Given the description of an element on the screen output the (x, y) to click on. 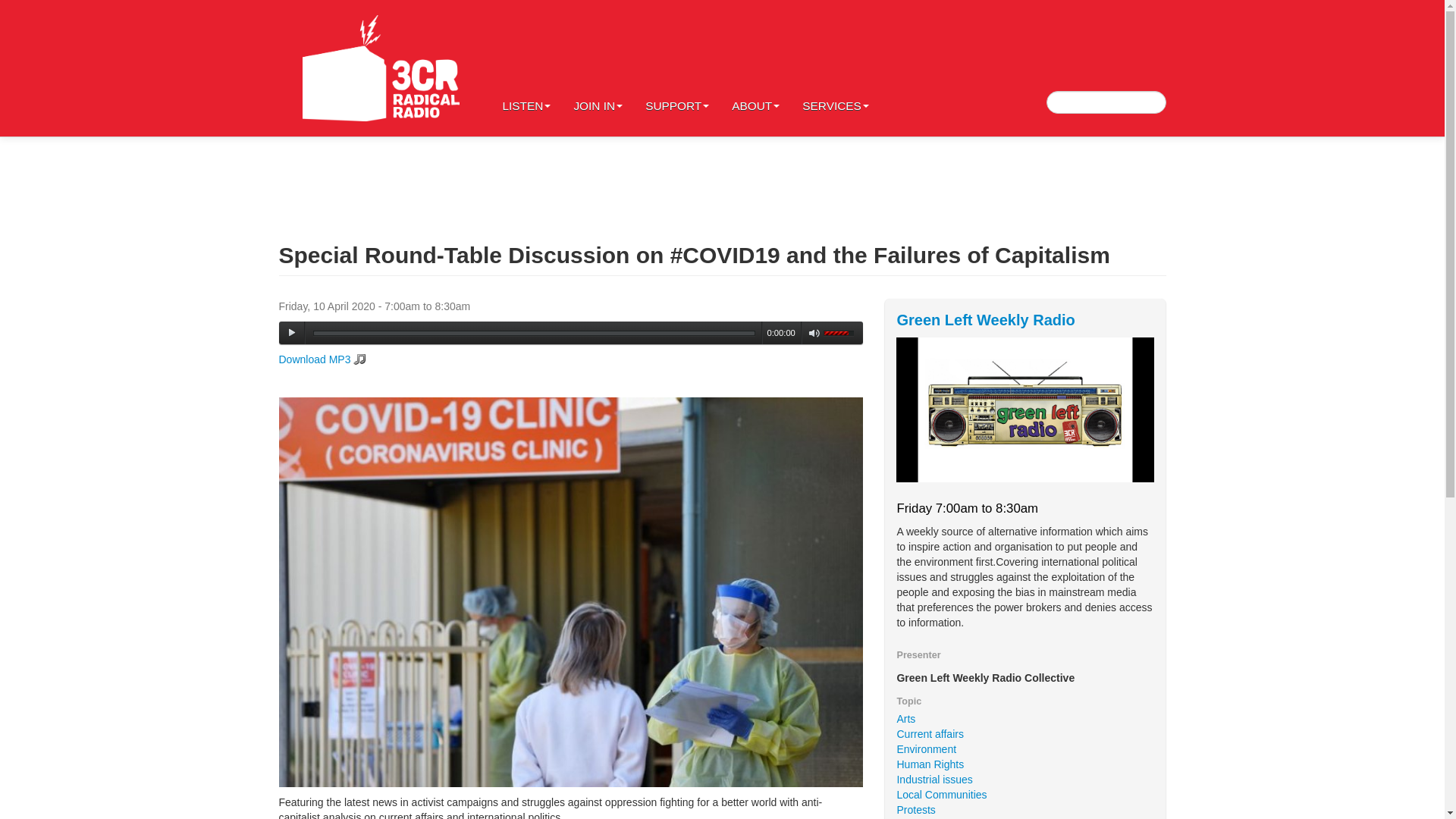
Search (26, 11)
Download mp3 (322, 359)
play (291, 332)
Enter the terms you wish to search for. (1106, 101)
Home (381, 68)
